Given the description of an element on the screen output the (x, y) to click on. 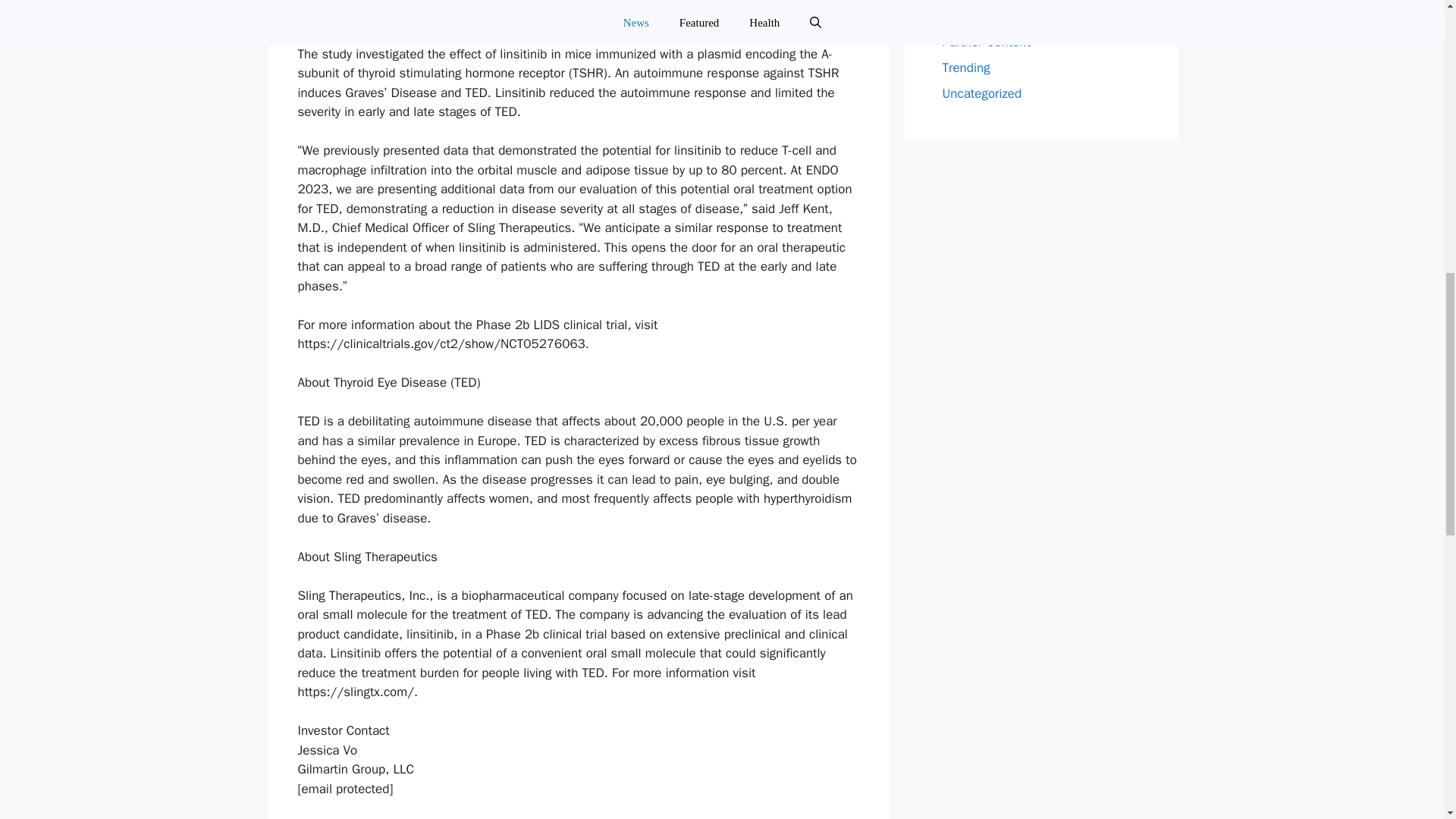
News (957, 16)
Uncategorized (982, 93)
Trending (966, 67)
Partner Content (985, 41)
